Given the description of an element on the screen output the (x, y) to click on. 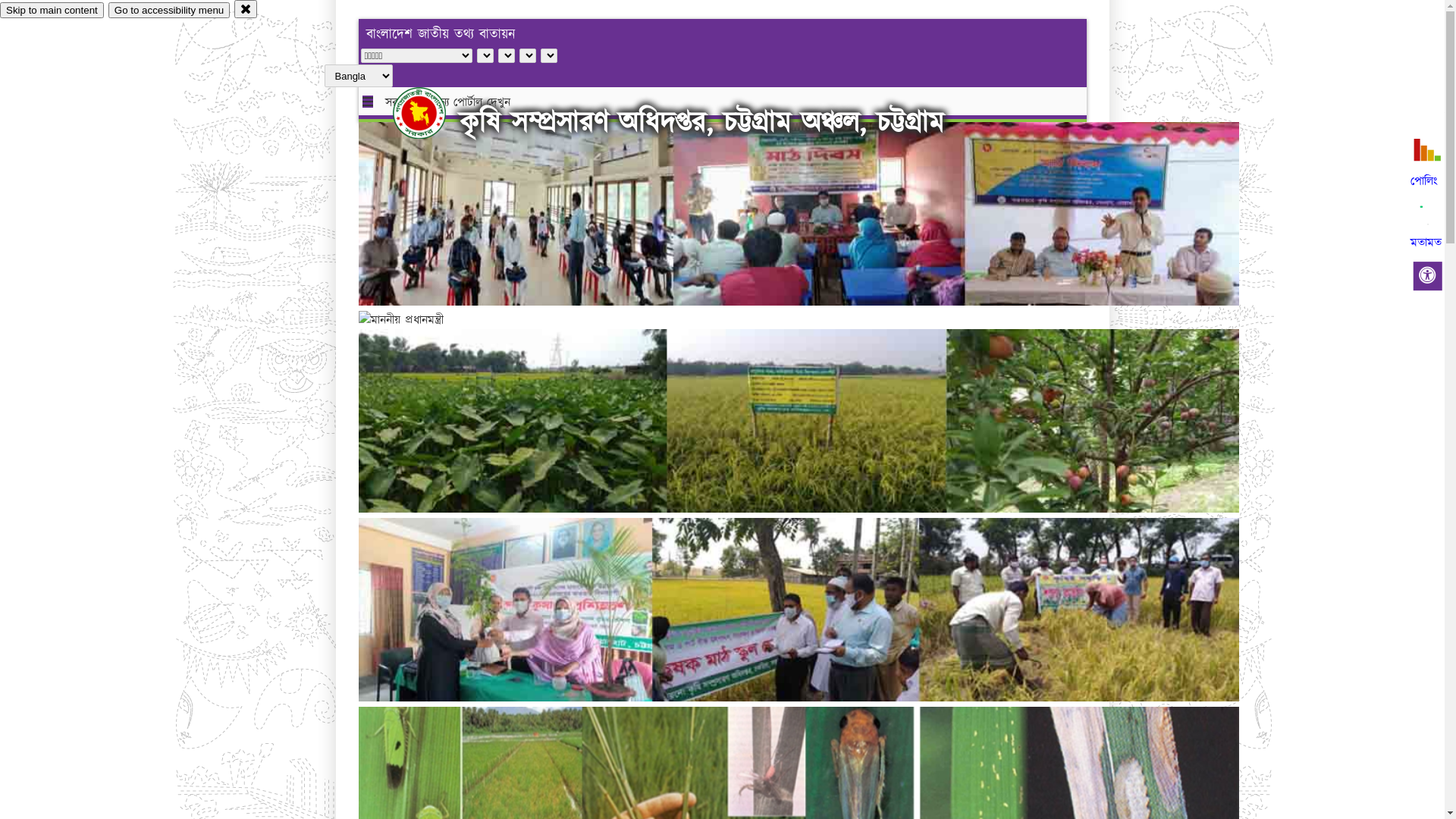
Go to accessibility menu Element type: text (168, 10)
Skip to main content Element type: text (51, 10)

                
             Element type: hover (431, 112)
close Element type: hover (245, 9)
